Given the description of an element on the screen output the (x, y) to click on. 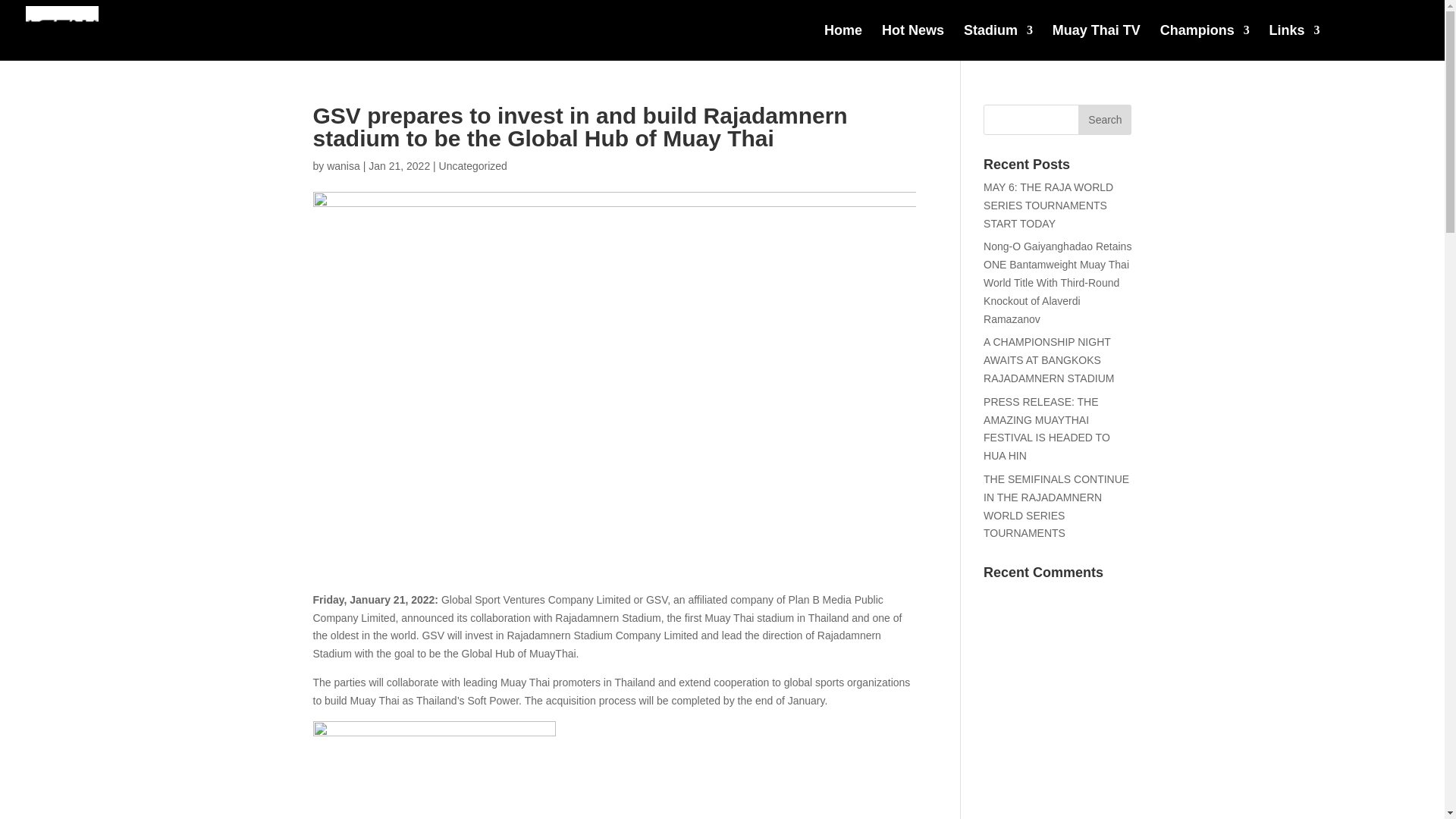
Search (1104, 119)
wanisa (342, 165)
Home (842, 42)
Uncategorized (472, 165)
Posts by wanisa (342, 165)
Champions (1204, 42)
MAY 6: THE RAJA WORLD SERIES TOURNAMENTS START TODAY (1048, 205)
Stadium (997, 42)
Hot News (912, 42)
